Given the description of an element on the screen output the (x, y) to click on. 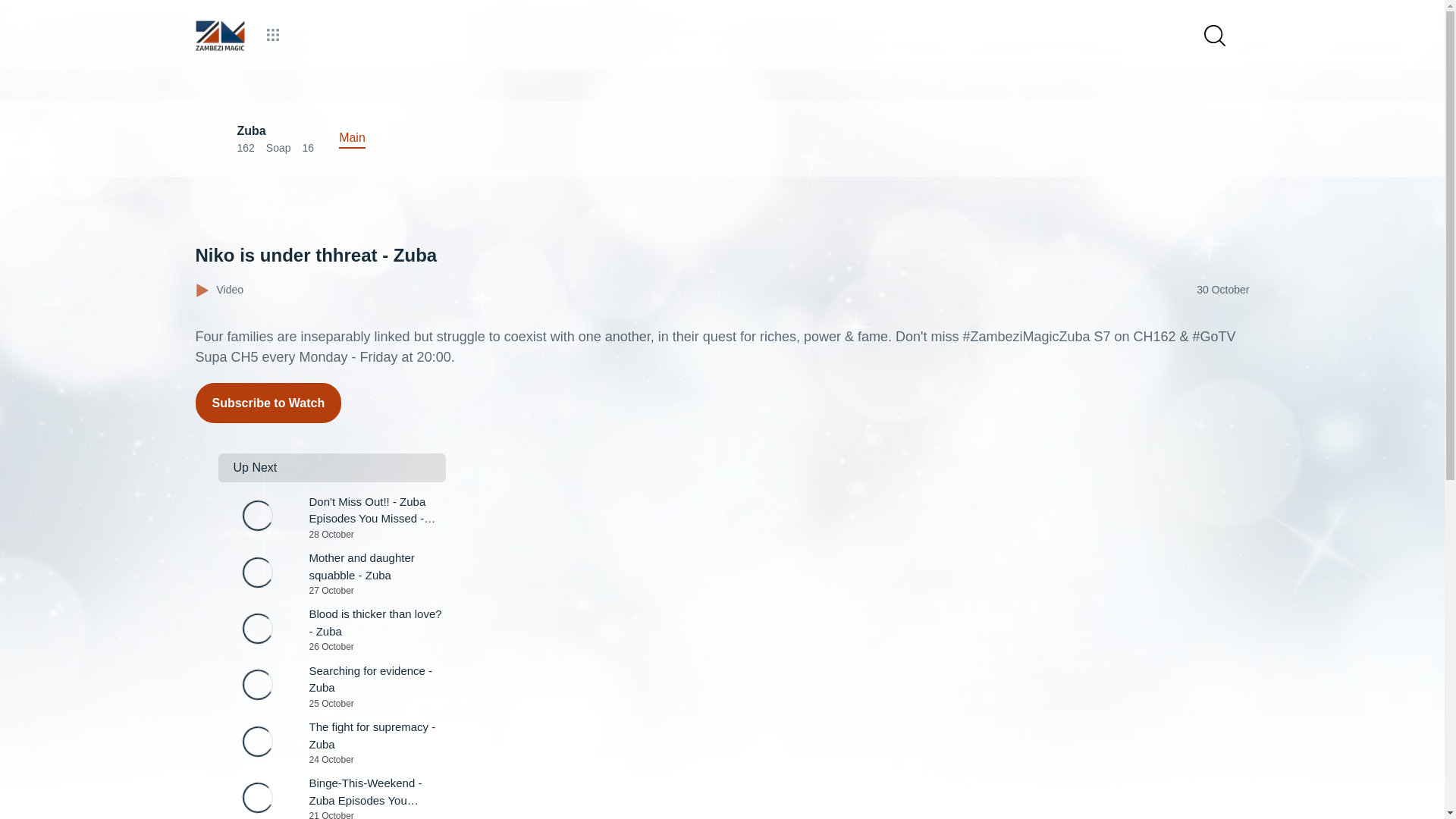
Subscribe to Watch (331, 686)
Main (268, 403)
